Given the description of an element on the screen output the (x, y) to click on. 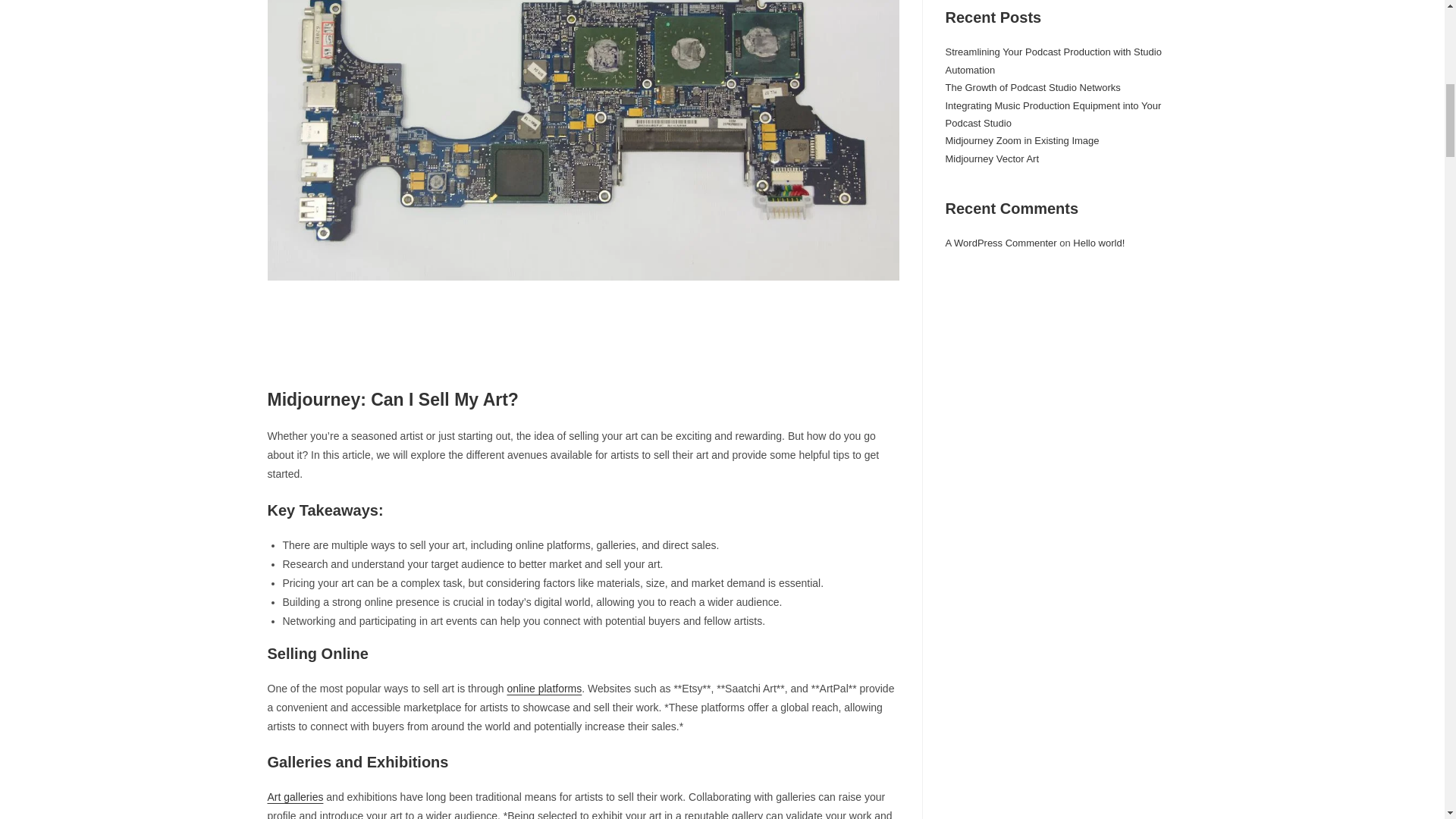
Midjourney Zoom in Existing Image (1021, 140)
online platforms (543, 688)
The Growth of Podcast Studio Networks (1031, 87)
Art galleries (294, 797)
Streamlining Your Podcast Production with Studio Automation (1052, 60)
